Given the description of an element on the screen output the (x, y) to click on. 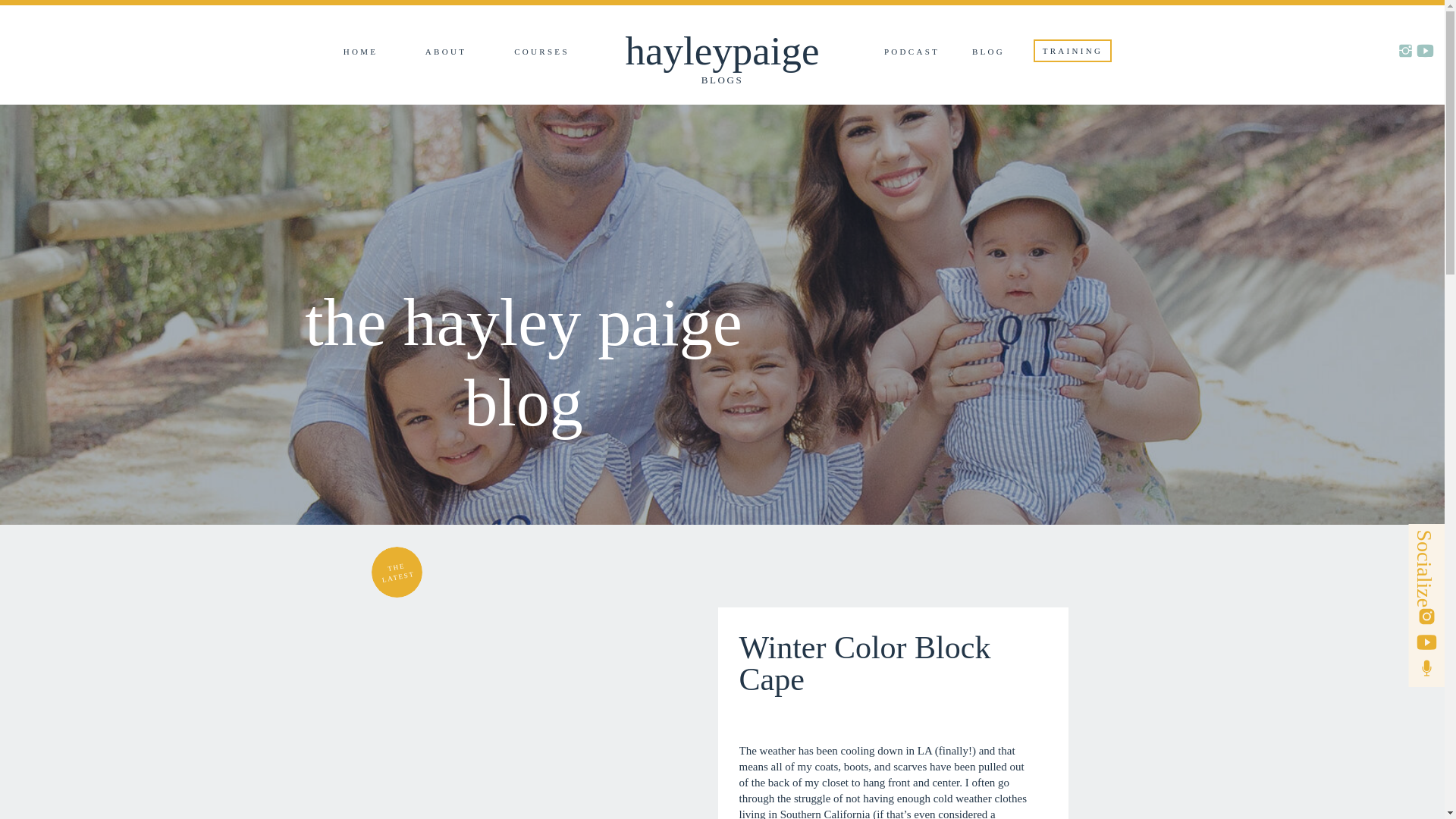
TRAINING (1072, 51)
hayleypaige (721, 51)
ABOUT (445, 51)
BLOG (989, 51)
Winter Color Block Cape (573, 693)
HOME (360, 51)
PODCAST (911, 51)
COURSES (541, 51)
